Given the description of an element on the screen output the (x, y) to click on. 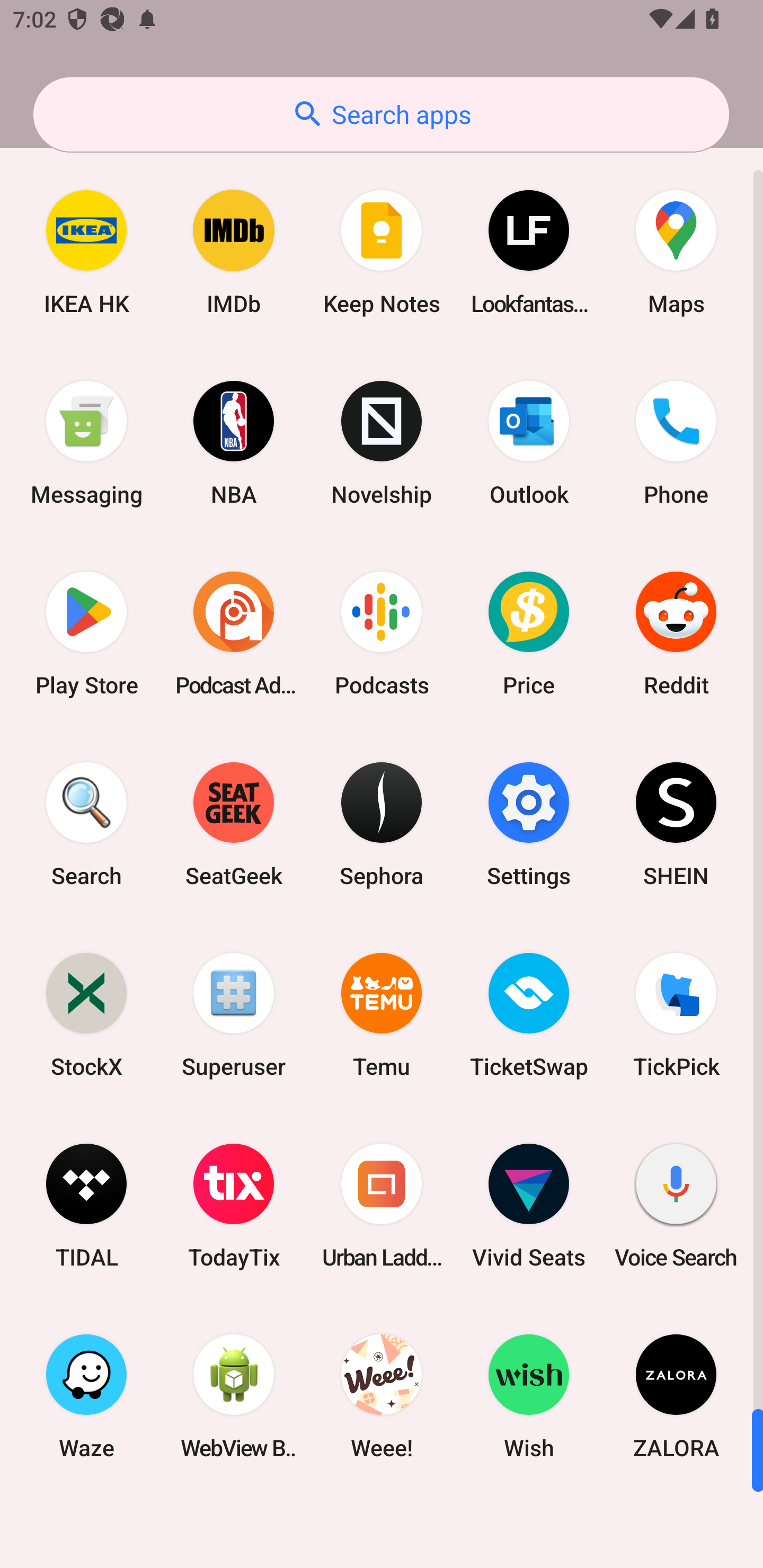
  Search apps (381, 114)
IKEA HK (86, 252)
IMDb (233, 252)
Keep Notes (381, 252)
Lookfantastic (528, 252)
Maps (676, 252)
Messaging (86, 442)
NBA (233, 442)
Novelship (381, 442)
Outlook (528, 442)
Phone (676, 442)
Play Store (86, 633)
Podcast Addict (233, 633)
Podcasts (381, 633)
Price (528, 633)
Reddit (676, 633)
Search (86, 823)
SeatGeek (233, 823)
Sephora (381, 823)
Settings (528, 823)
SHEIN (676, 823)
StockX (86, 1014)
Superuser (233, 1014)
Temu (381, 1014)
TicketSwap (528, 1014)
TickPick (676, 1014)
TIDAL (86, 1205)
TodayTix (233, 1205)
Urban Ladder (381, 1205)
Vivid Seats (528, 1205)
Voice Search (676, 1205)
Waze (86, 1396)
WebView Browser Tester (233, 1396)
Weee! (381, 1396)
Wish (528, 1396)
ZALORA (676, 1396)
